Given the description of an element on the screen output the (x, y) to click on. 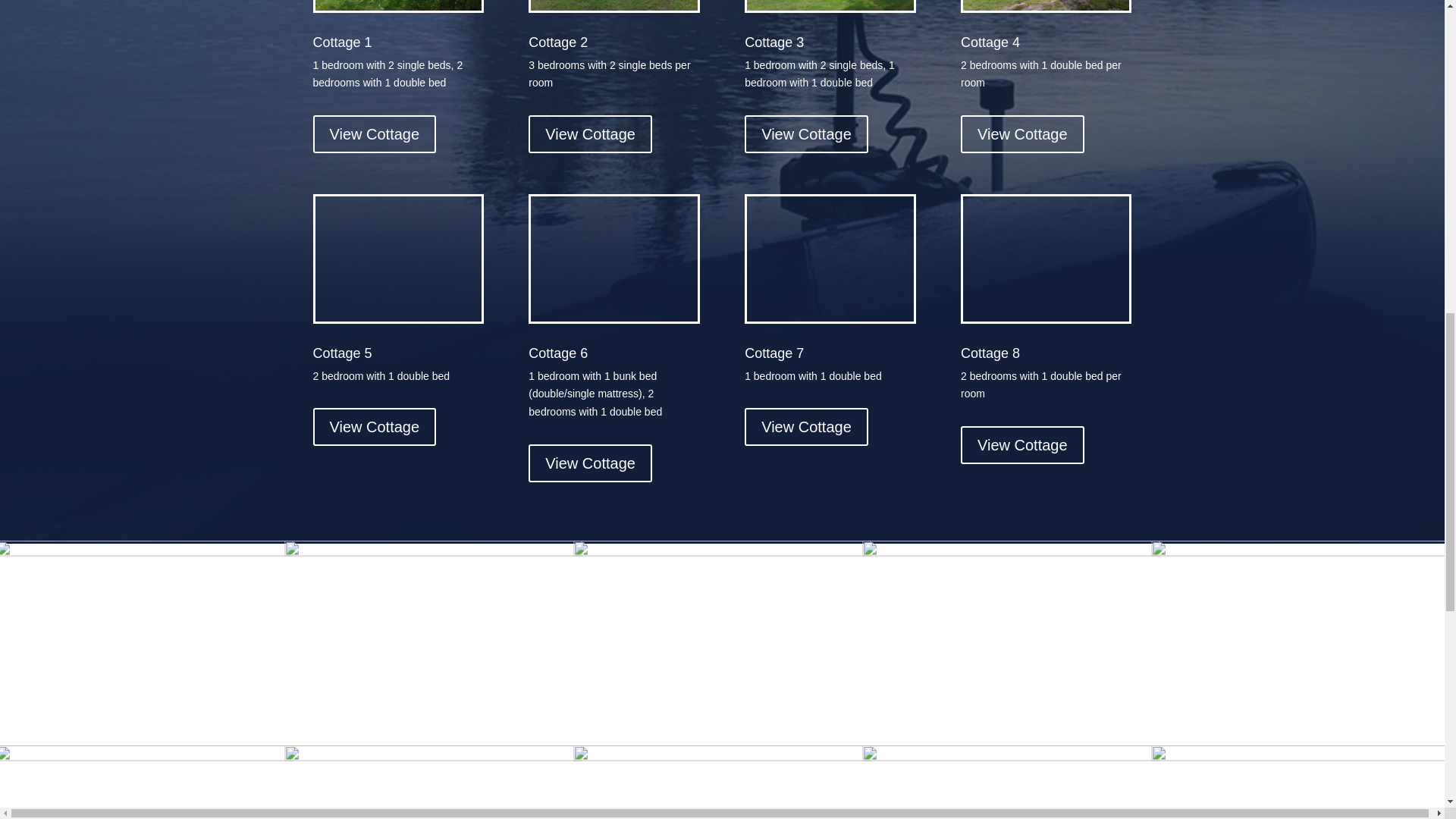
tubing-3 (144, 759)
swimming-1 (433, 759)
kids-1-900x480 (722, 554)
canoeing-3 (144, 554)
jet-ski-2 (1011, 554)
winter-snowshoe101 (722, 759)
Main-Dock-1-1024x768 (1011, 759)
